Given the description of an element on the screen output the (x, y) to click on. 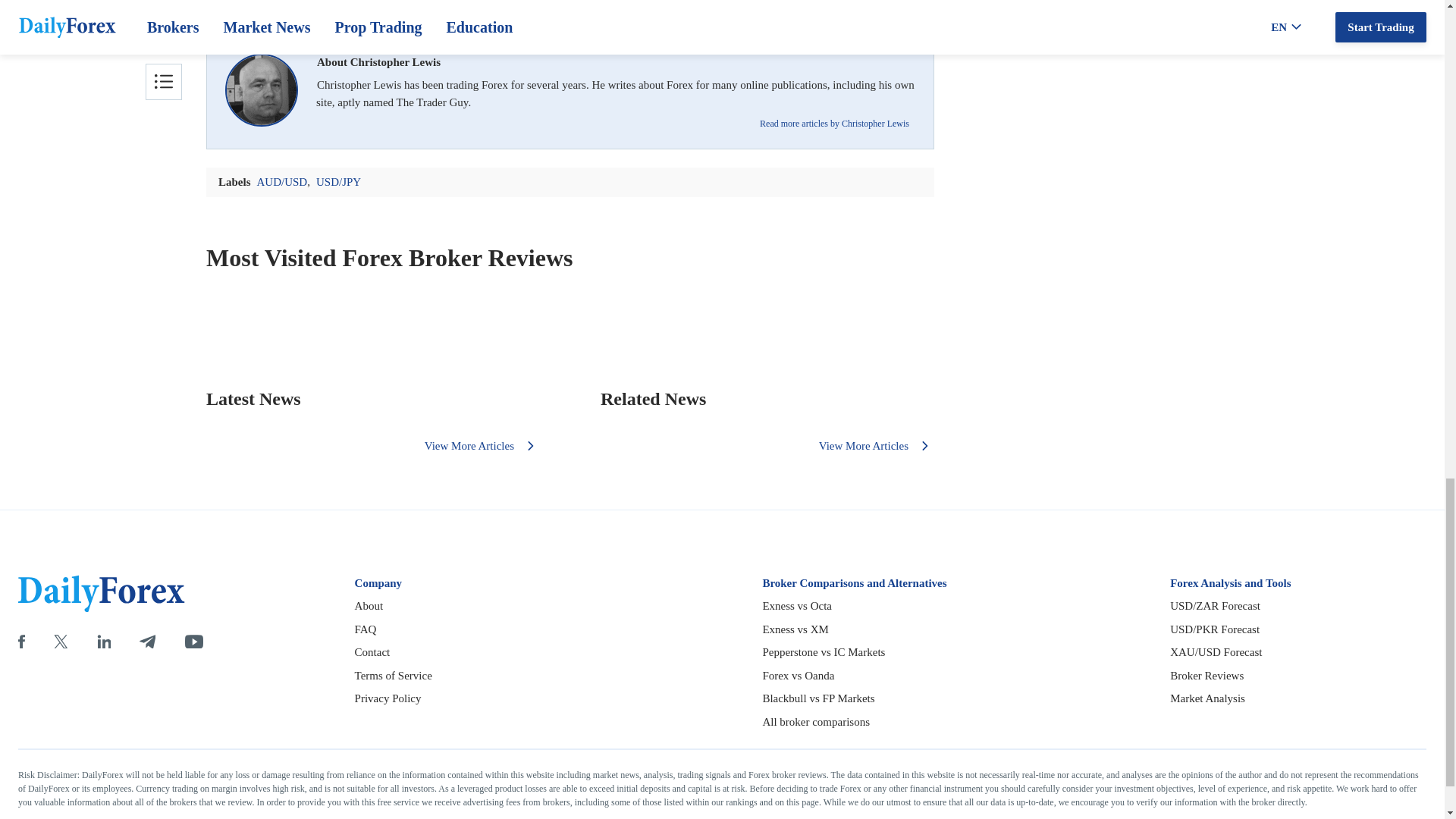
View More Articles (876, 445)
audusd (570, 8)
View More Articles (482, 445)
Christopher Lewis (261, 92)
